Given the description of an element on the screen output the (x, y) to click on. 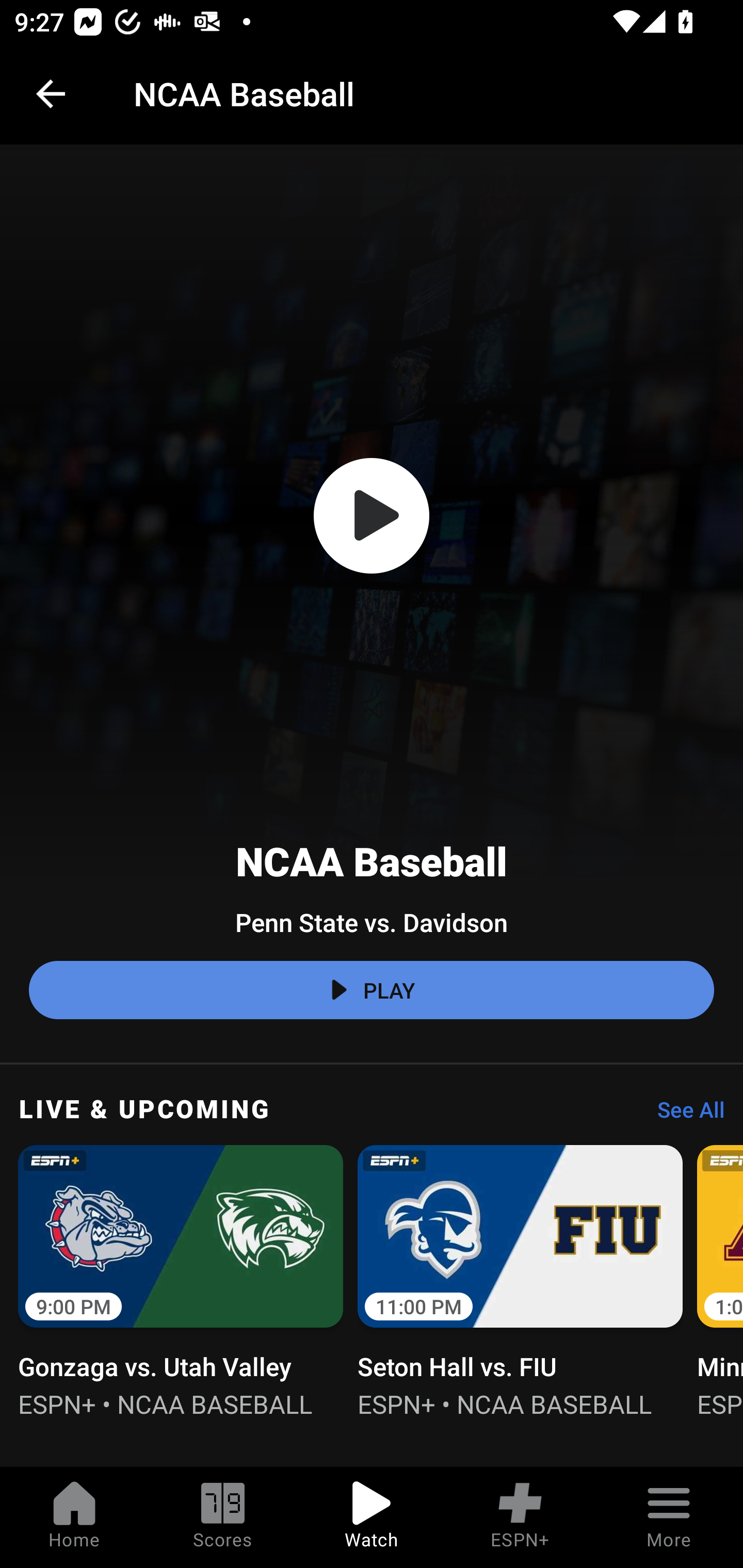
 (371, 515)
PLAY (371, 990)
See All (683, 1114)
11:00 PM Seton Hall vs. FIU ESPN+ • NCAA BASEBALL (519, 1279)
Home (74, 1517)
Scores (222, 1517)
ESPN+ (519, 1517)
More (668, 1517)
